Given the description of an element on the screen output the (x, y) to click on. 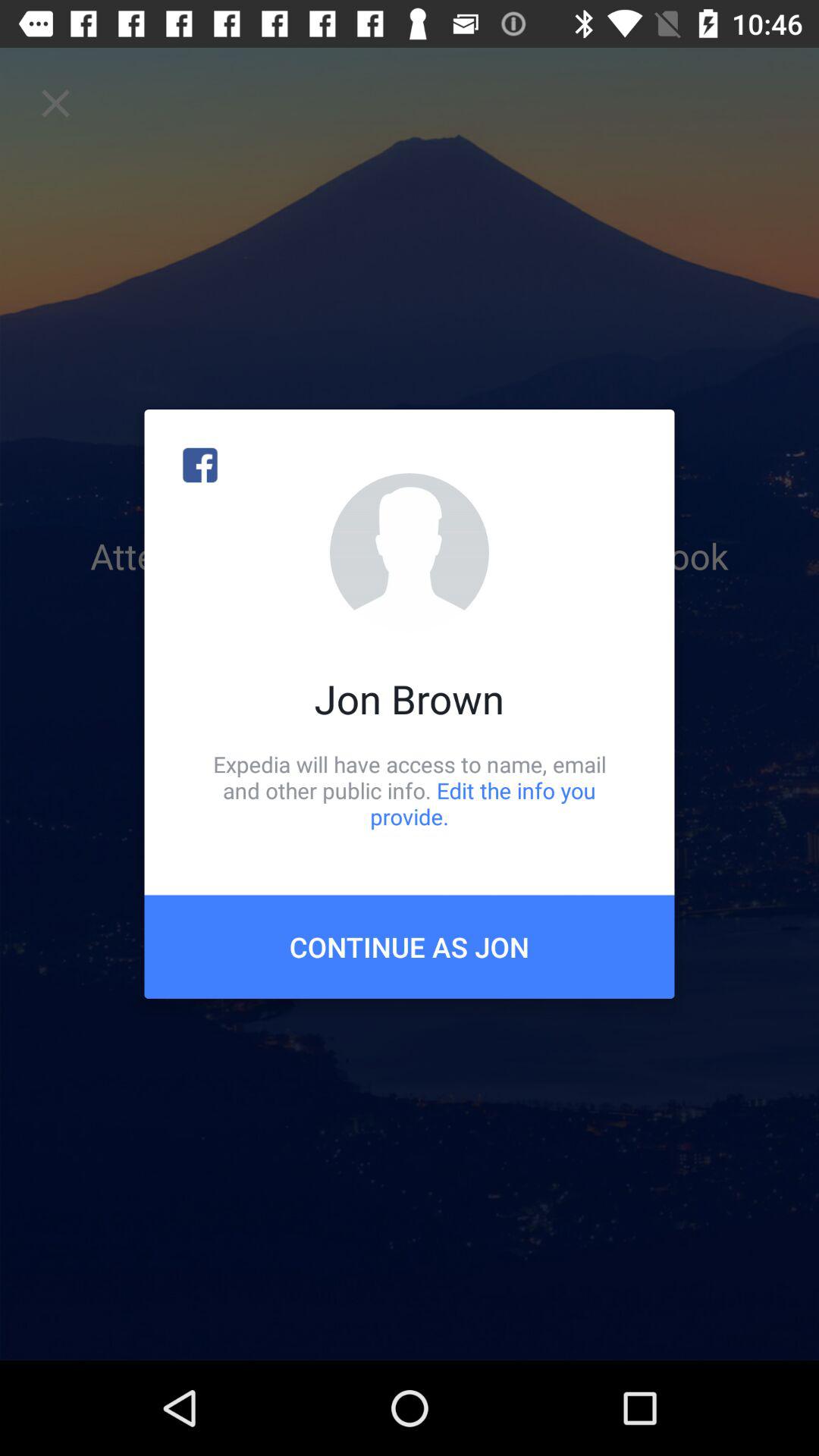
flip to the continue as jon icon (409, 946)
